Given the description of an element on the screen output the (x, y) to click on. 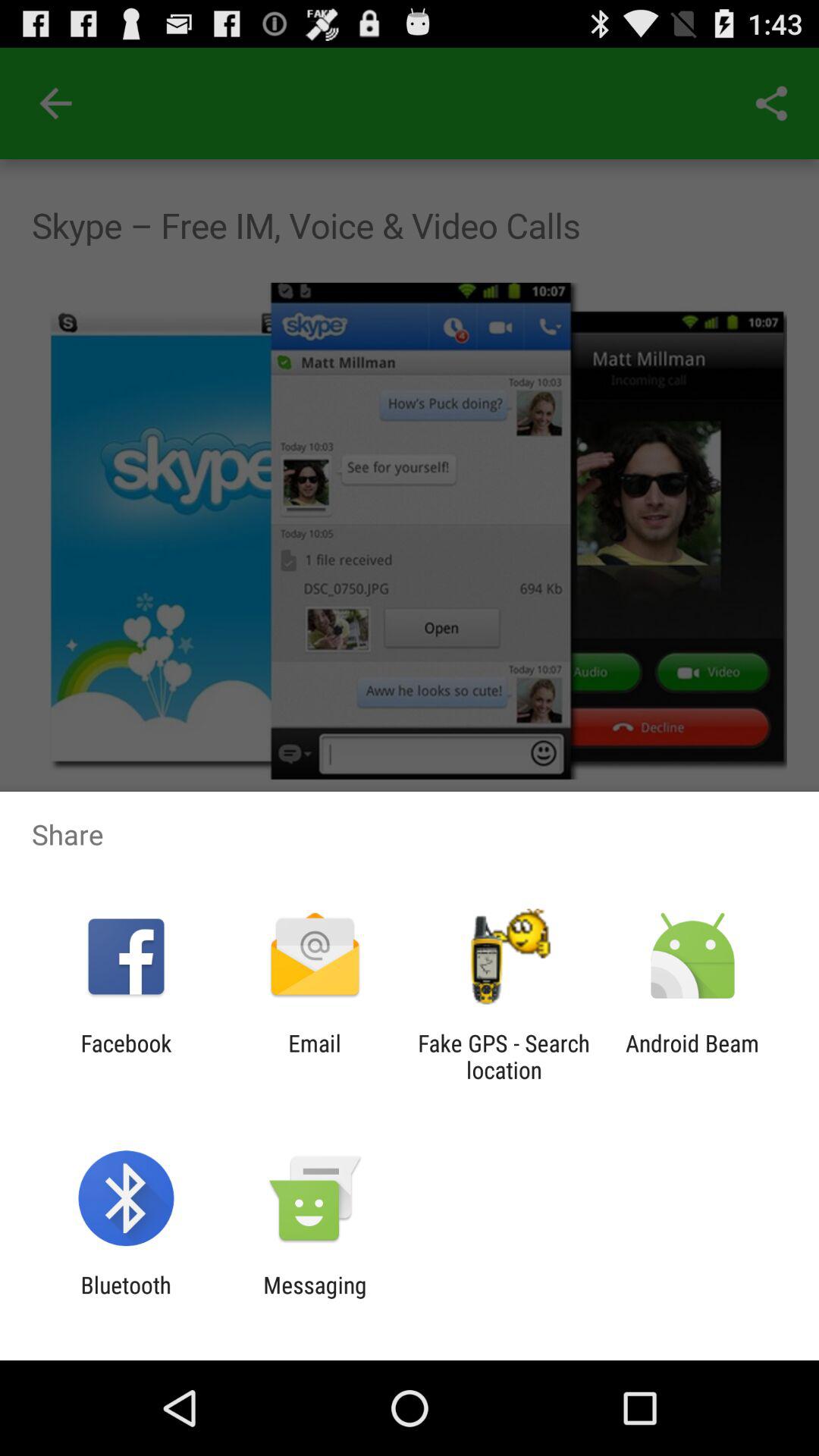
open icon to the left of email app (125, 1056)
